Given the description of an element on the screen output the (x, y) to click on. 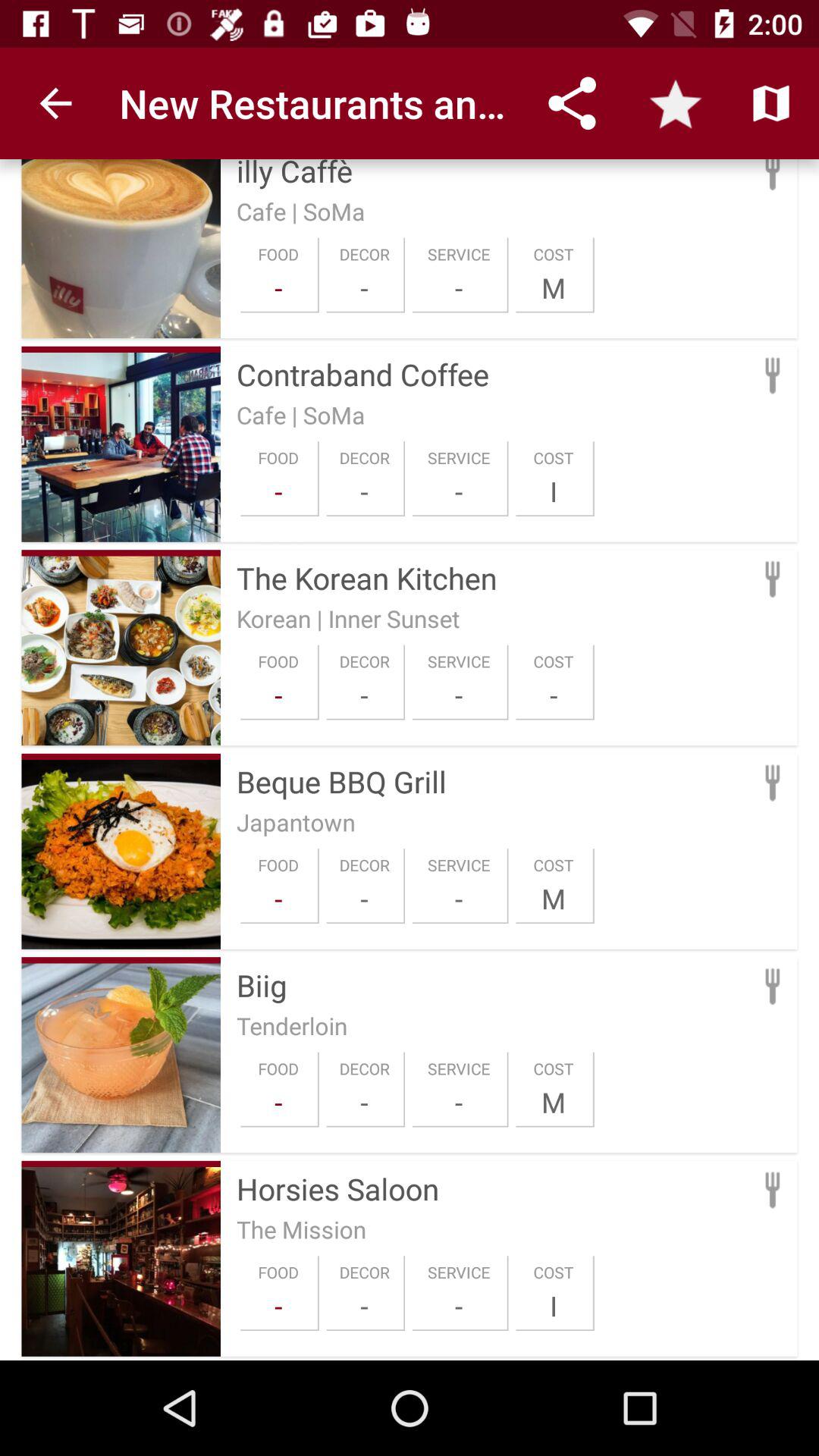
press the item to the left of the cost icon (458, 1102)
